Given the description of an element on the screen output the (x, y) to click on. 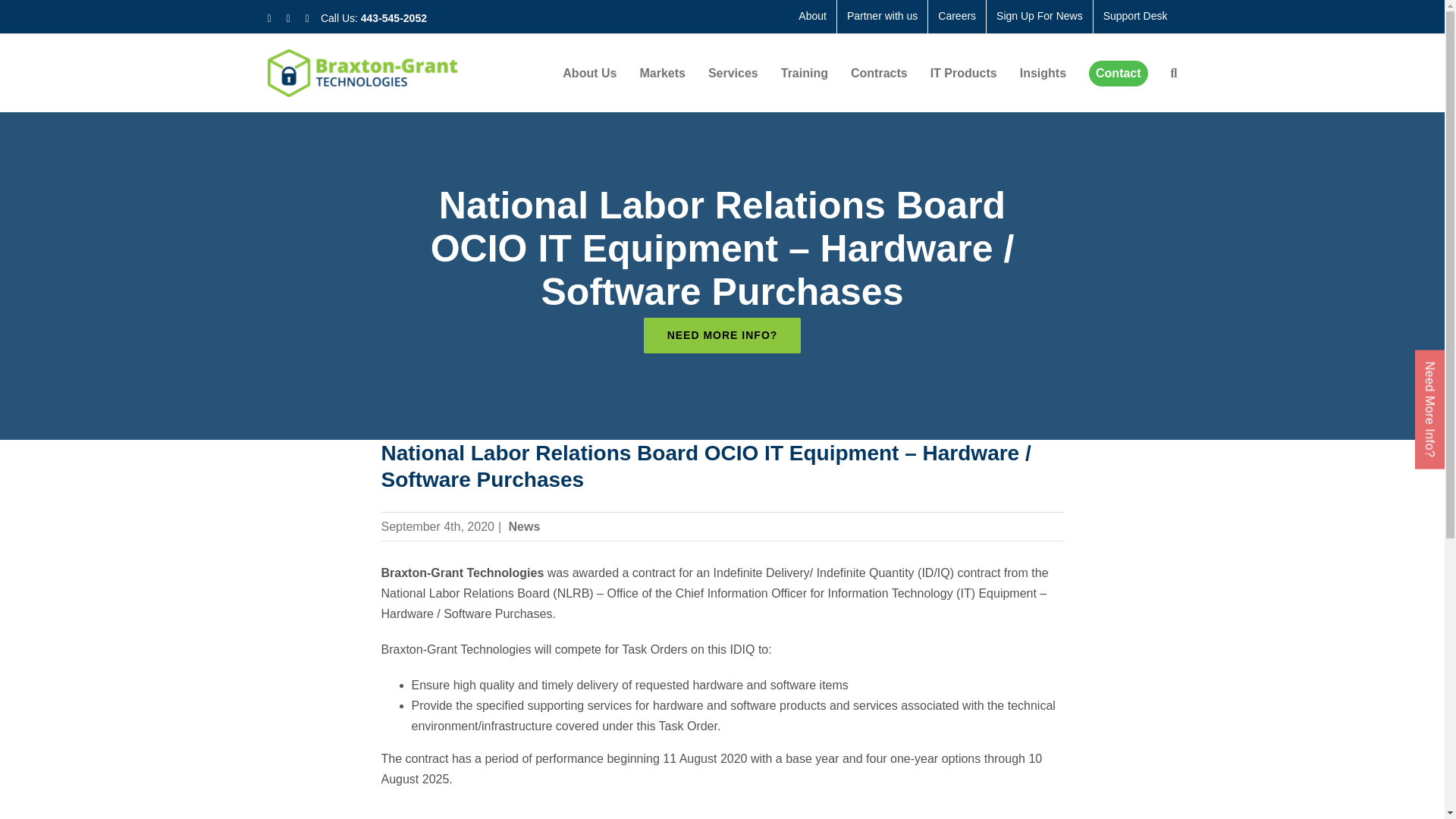
Partner with us (882, 16)
Call Us: 443-545-2052 (373, 20)
About (812, 16)
Support Desk (1135, 16)
Careers (956, 16)
Sign Up For News (1040, 16)
